Given the description of an element on the screen output the (x, y) to click on. 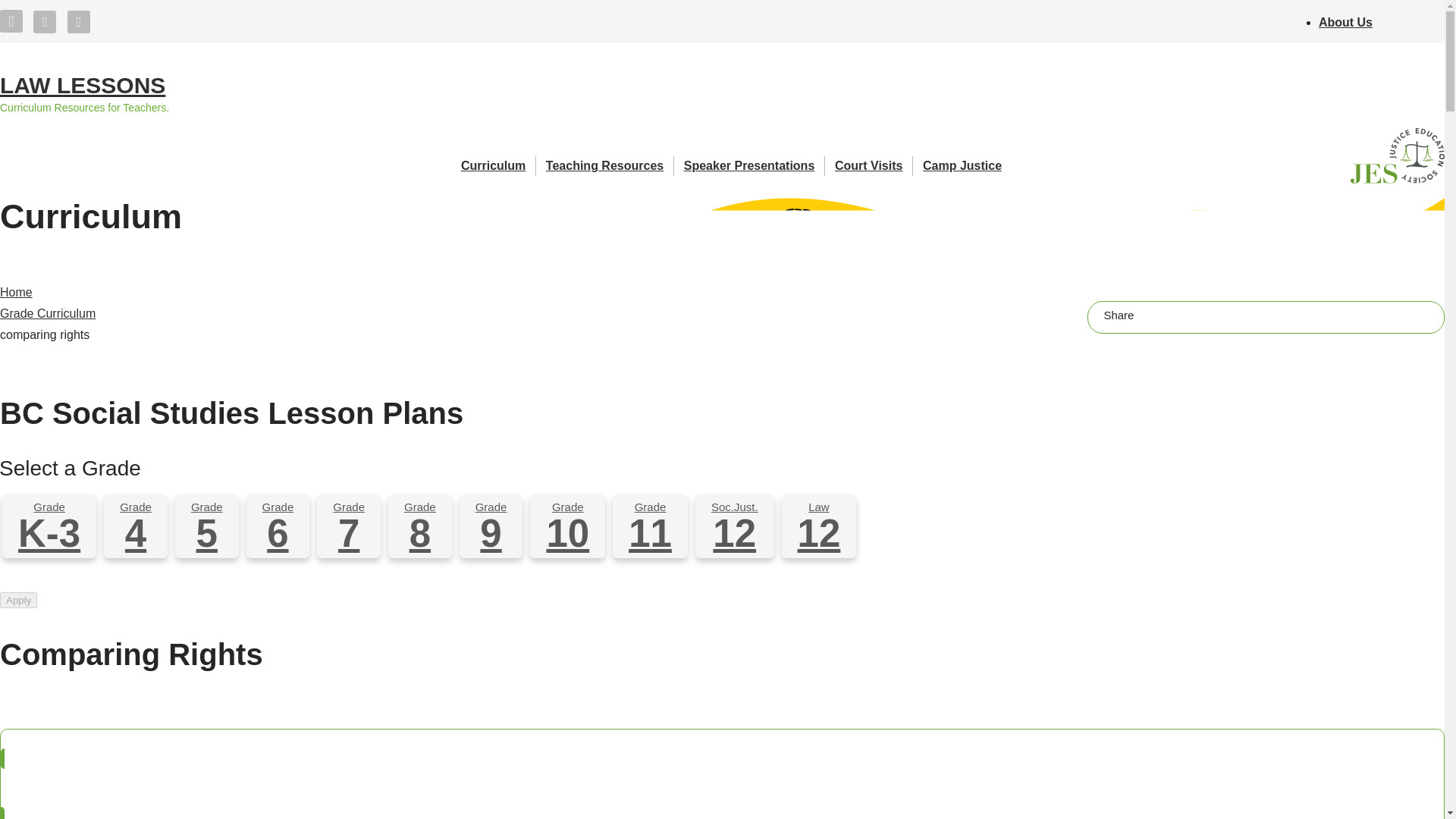
LAW LESSONS (82, 85)
About Us (1346, 21)
Home (82, 85)
Curriculum (498, 166)
Share to Email (1220, 314)
Share to Twitter (1185, 314)
Share to Facebook (1151, 314)
